Given the description of an element on the screen output the (x, y) to click on. 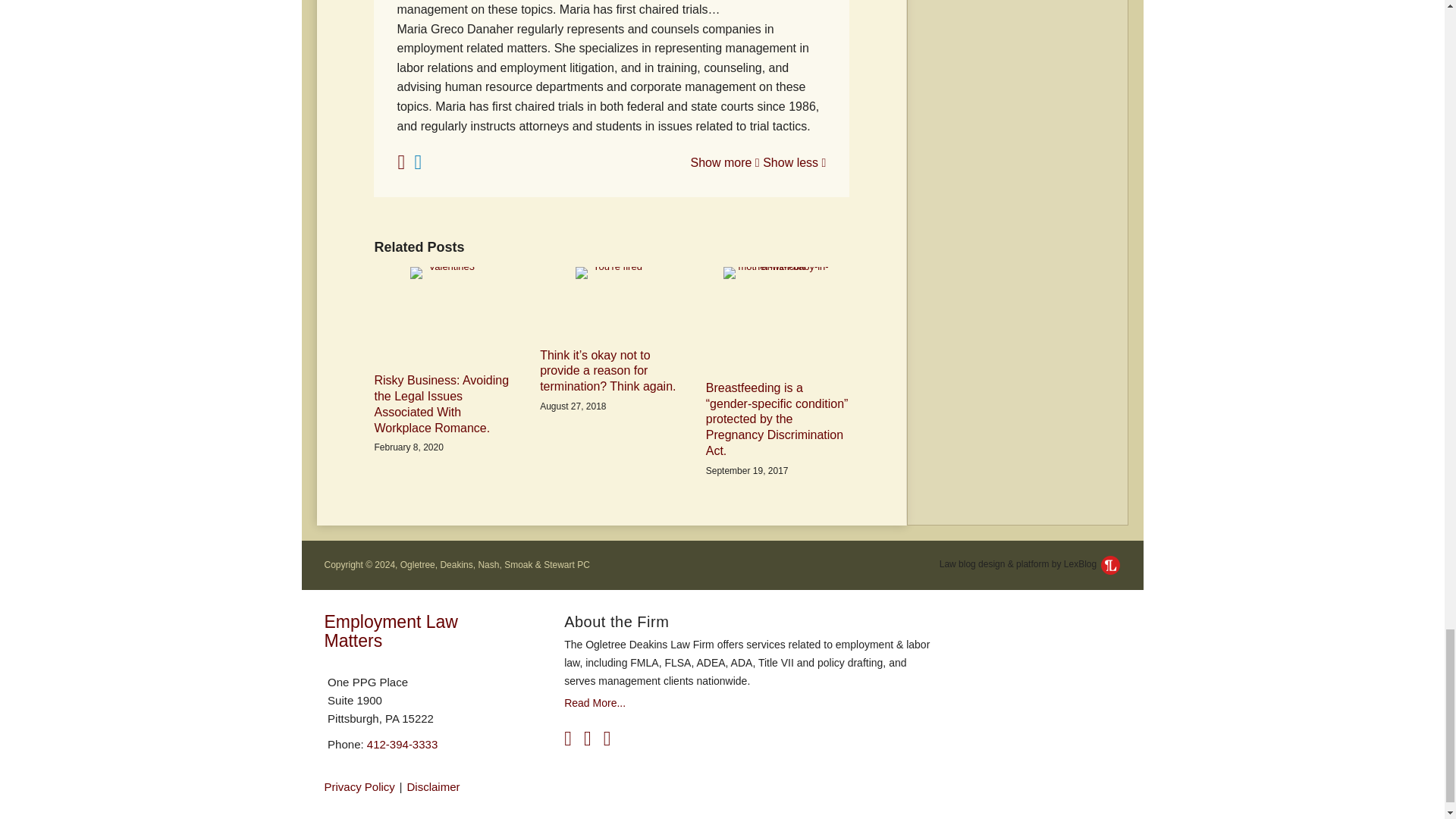
Show less (793, 162)
Show more (724, 162)
LexBlog Logo (1109, 565)
